Given the description of an element on the screen output the (x, y) to click on. 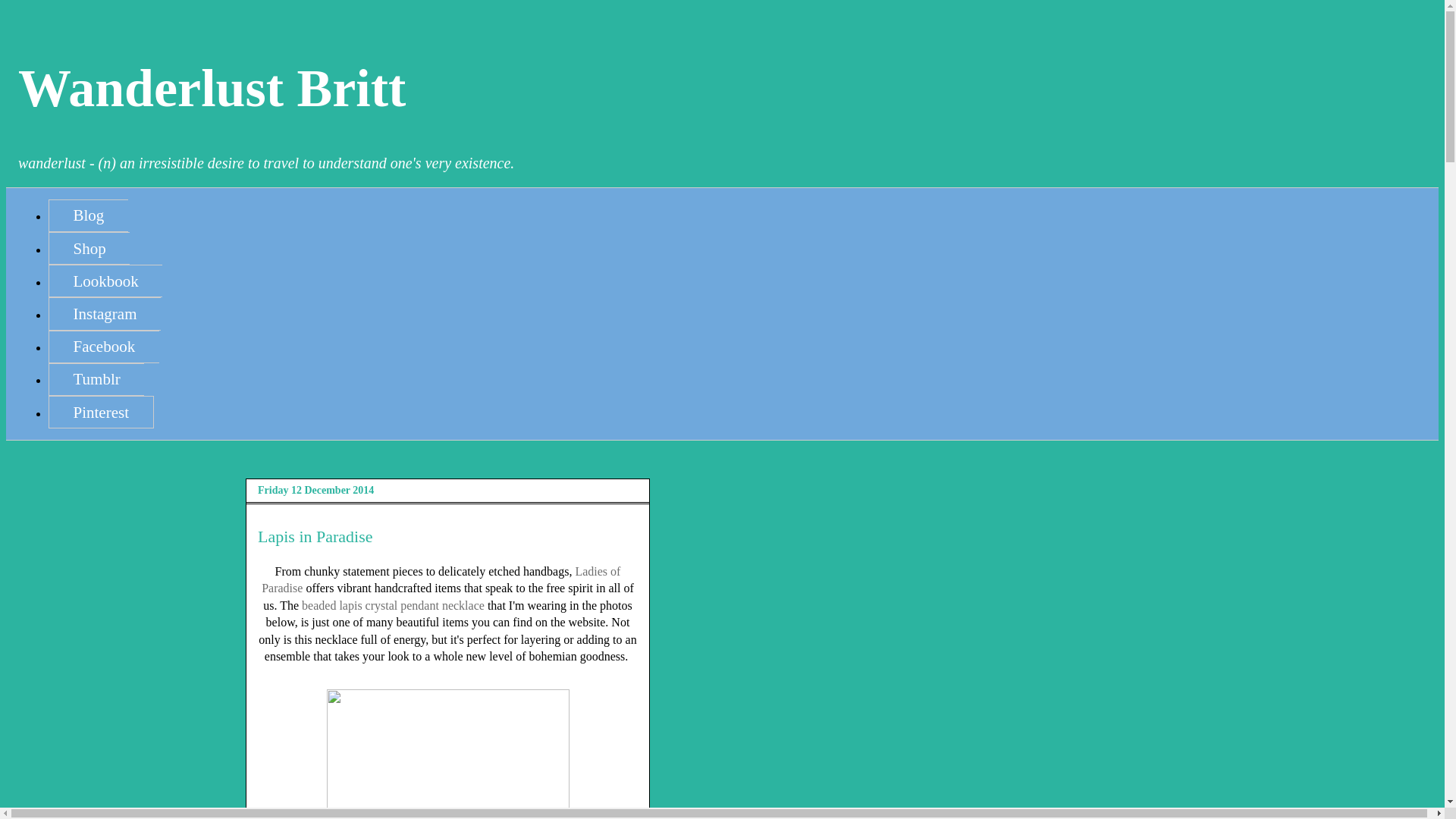
Wanderlust Britt (211, 87)
Ladies of Paradise (441, 579)
Pinterest (101, 411)
Facebook (103, 346)
beaded lapis crystal pendant necklace (392, 604)
Lookbook (104, 280)
Instagram (104, 313)
Tumblr (96, 379)
Shop (88, 247)
Blog (88, 215)
